Given the description of an element on the screen output the (x, y) to click on. 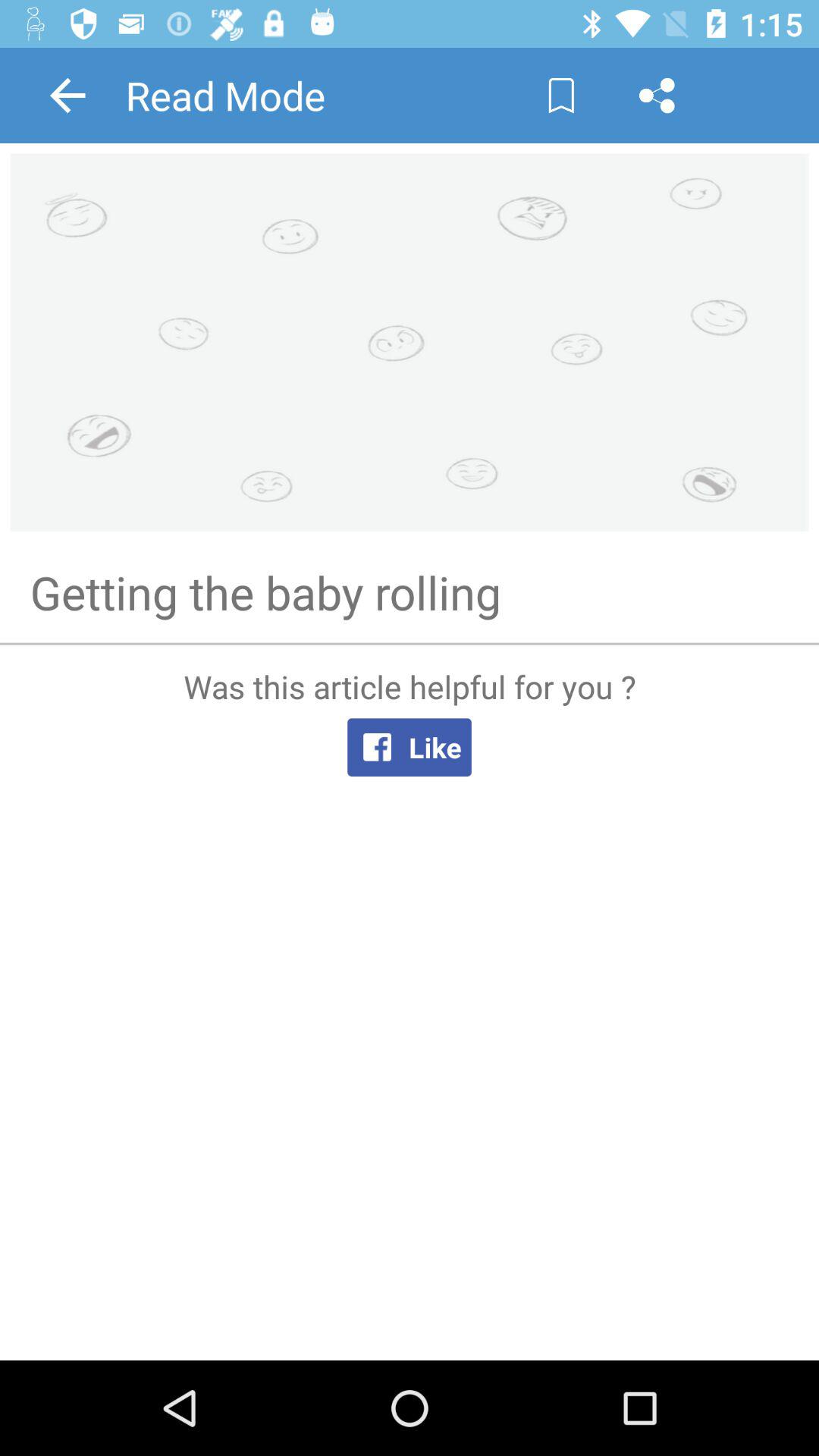
bookmark page (561, 95)
